Given the description of an element on the screen output the (x, y) to click on. 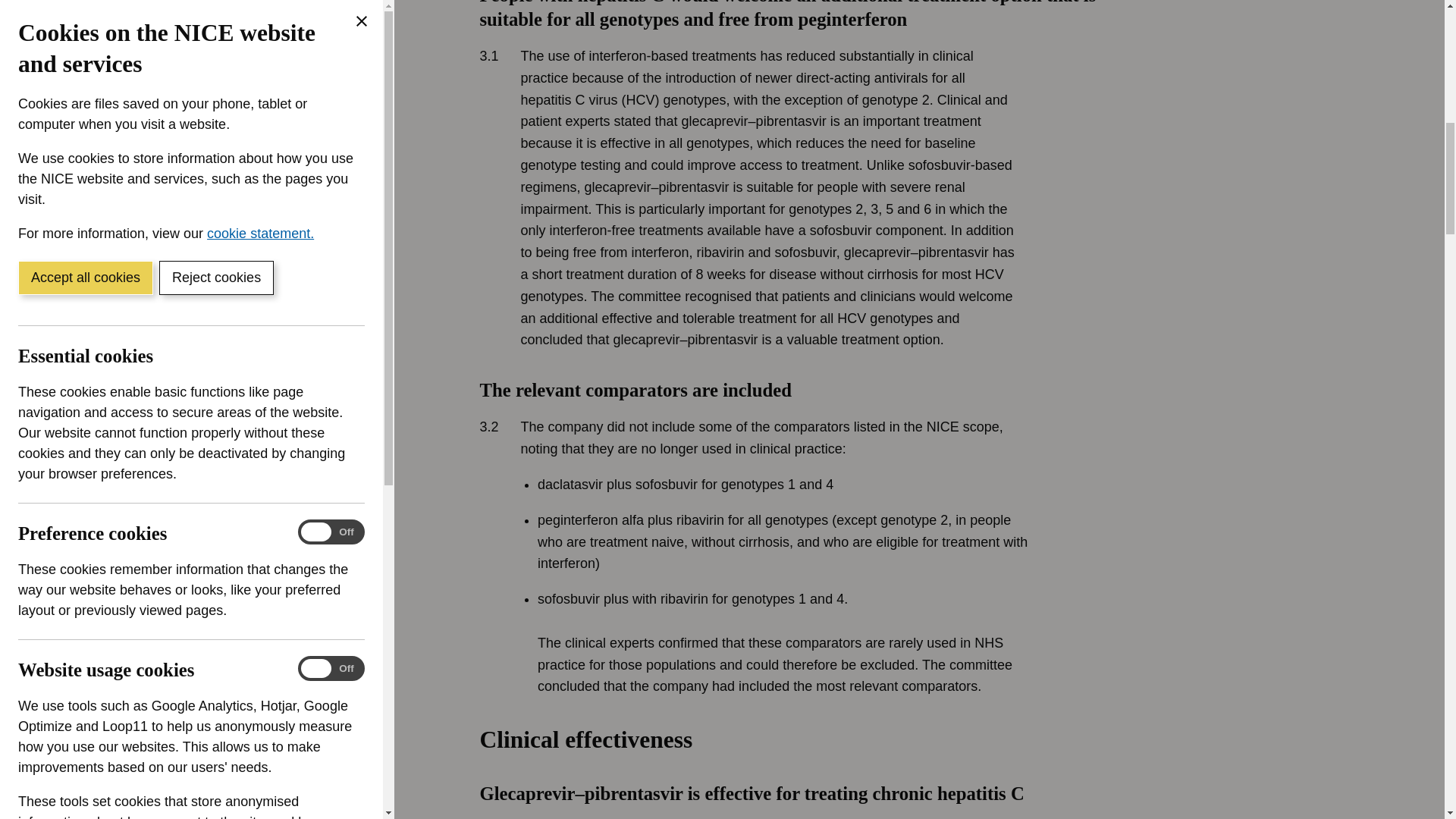
Clinical effectiveness (850, 771)
Show vendors within this category (130, 63)
Show vendors within this category (130, 427)
